Given the description of an element on the screen output the (x, y) to click on. 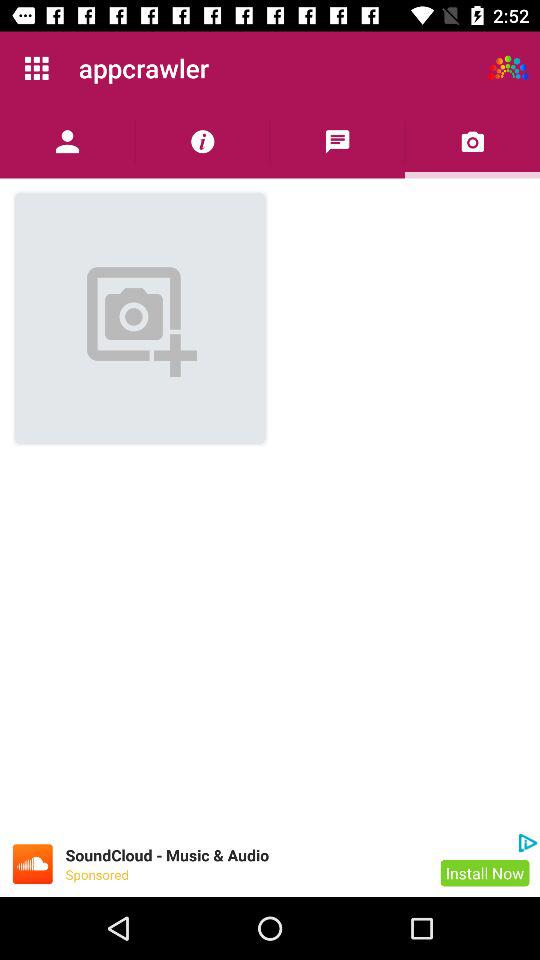
select user (67, 141)
